Given the description of an element on the screen output the (x, y) to click on. 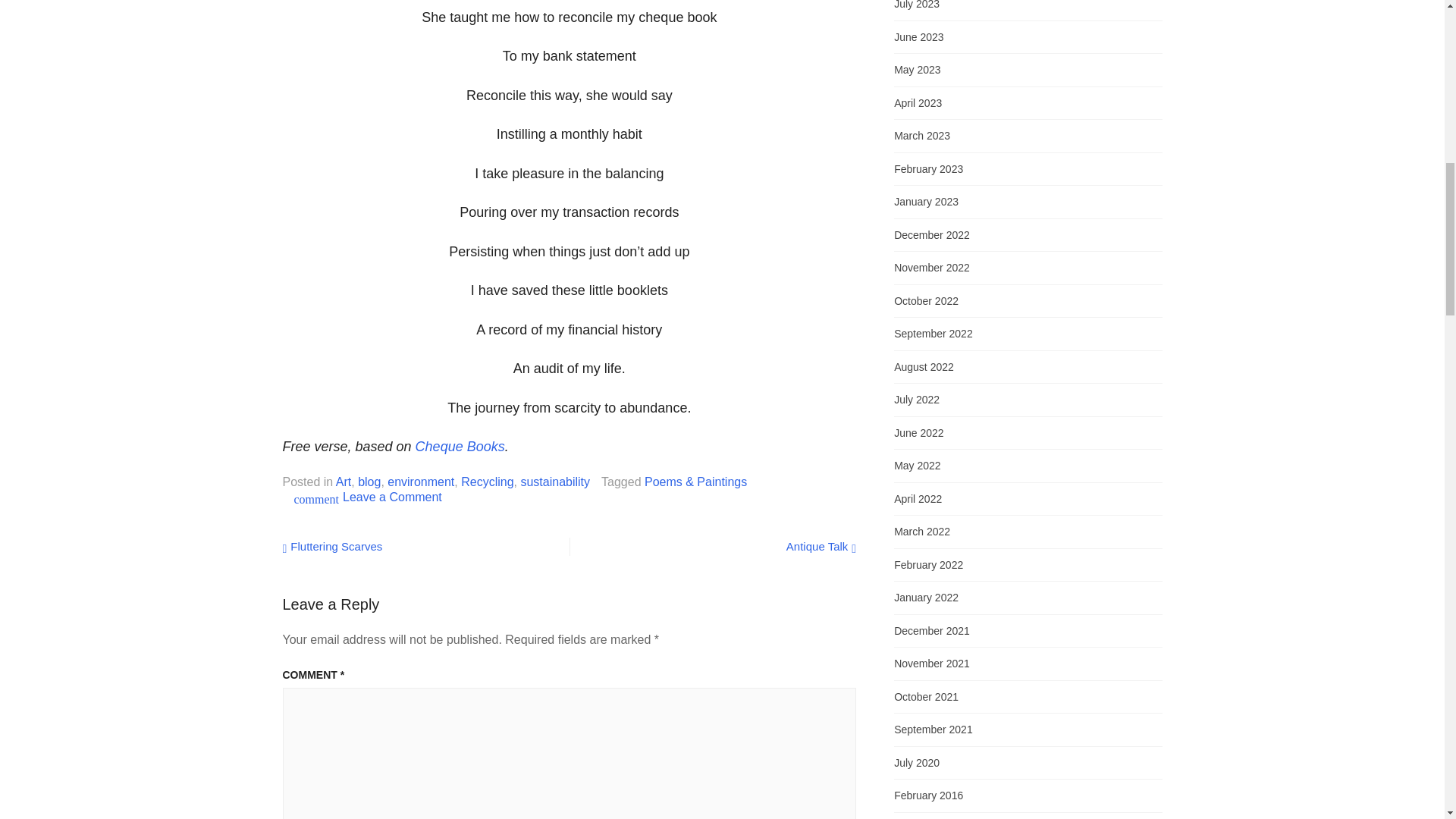
Fluttering Scarves (331, 545)
Cheque Books (459, 446)
blog (369, 481)
Antique Talk (821, 545)
Recycling (487, 481)
sustainability (554, 481)
Art (343, 481)
environment (420, 481)
